Given the description of an element on the screen output the (x, y) to click on. 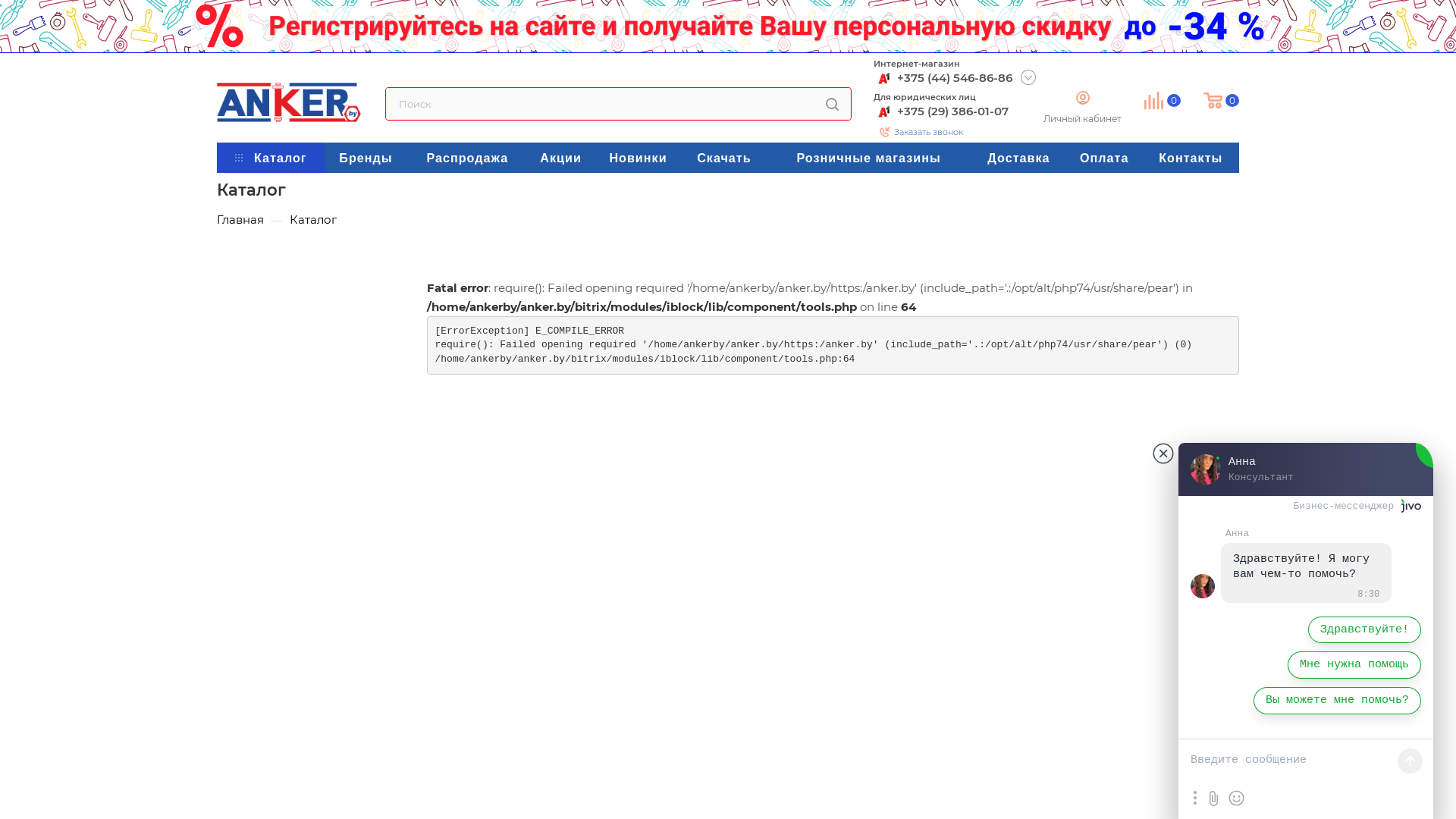
Anker.by Element type: hover (288, 102)
0 Element type: text (1209, 83)
0 Element type: text (1150, 83)
